Given the description of an element on the screen output the (x, y) to click on. 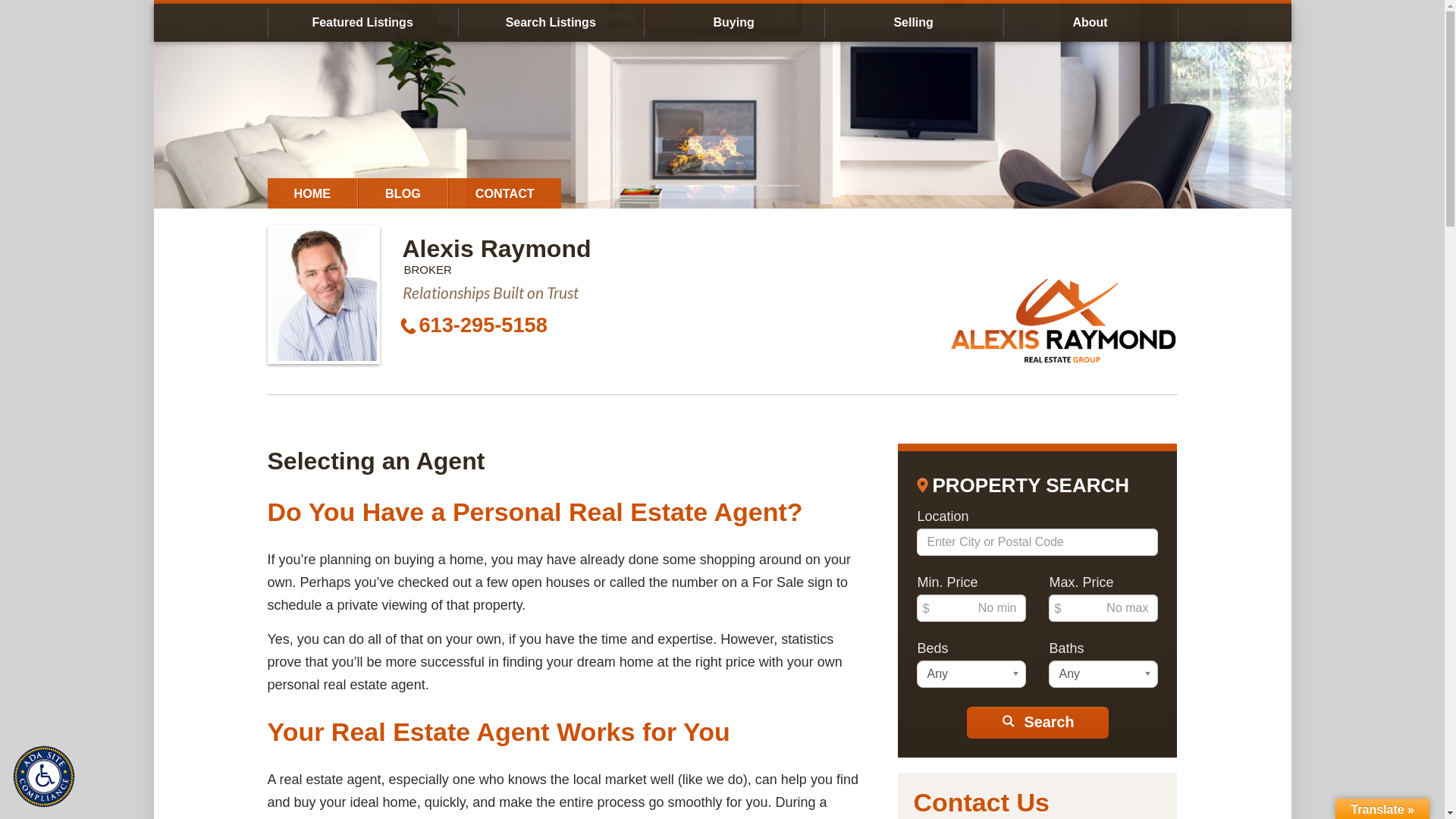
Featured Listings Element type: text (361, 22)
Search Element type: text (1036, 722)
BLOG Element type: text (402, 193)
Any Element type: text (1102, 673)
Search Listings Element type: text (550, 22)
613-295-5158 Element type: text (482, 324)
Buying Element type: text (733, 22)
Accessibility Menu Element type: hover (43, 776)
Selling Element type: text (913, 22)
CONTACT Element type: text (504, 193)
About Element type: text (1090, 22)
Accessibility Menu Element type: hover (47, 780)
Alexis Raymond Element type: text (495, 248)
HOME Element type: text (311, 193)
Any Element type: text (971, 673)
